Given the description of an element on the screen output the (x, y) to click on. 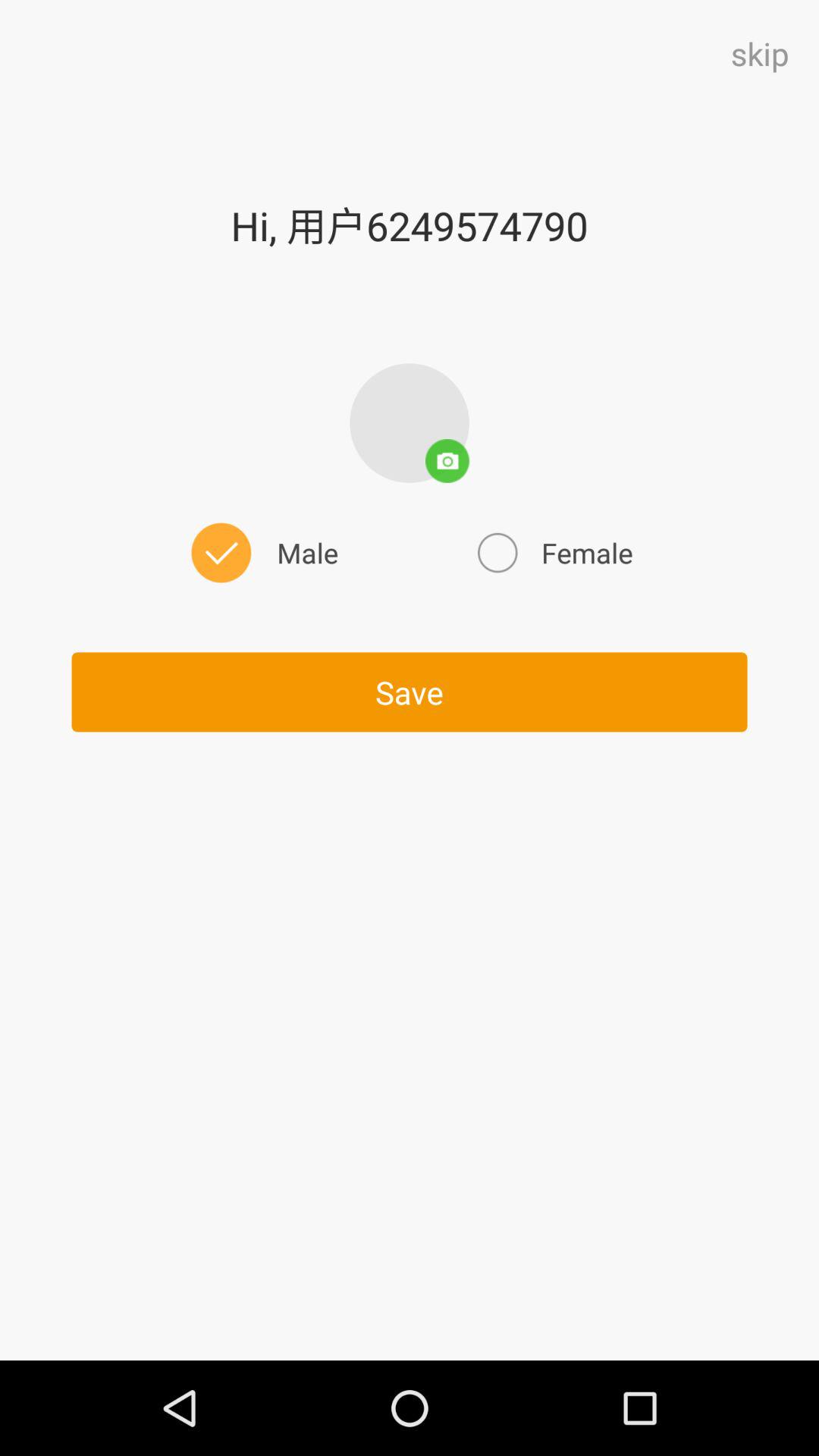
launch icon to the right of the male icon (553, 552)
